Given the description of an element on the screen output the (x, y) to click on. 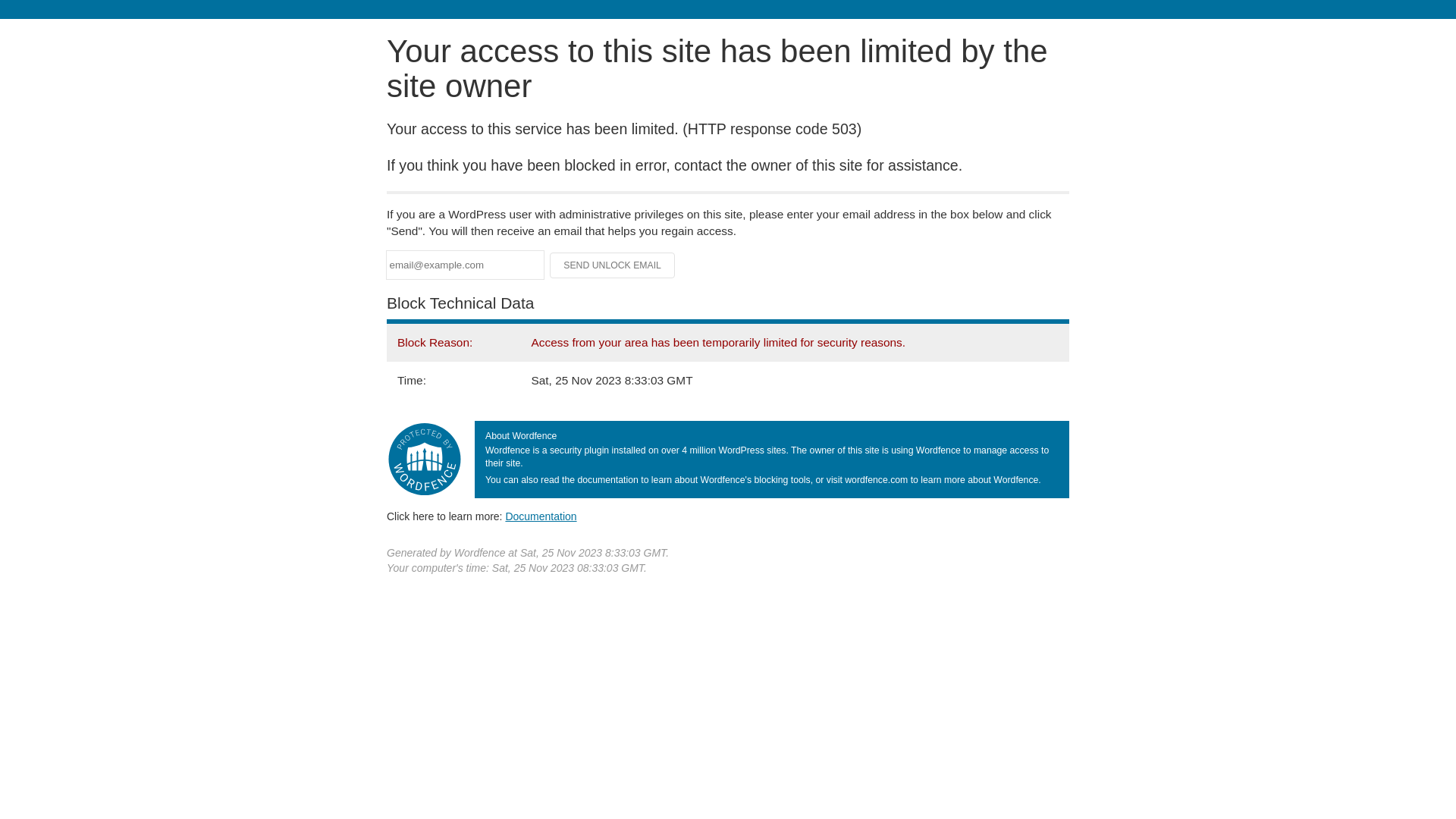
Send Unlock Email Element type: text (612, 265)
Documentation Element type: text (540, 516)
